Given the description of an element on the screen output the (x, y) to click on. 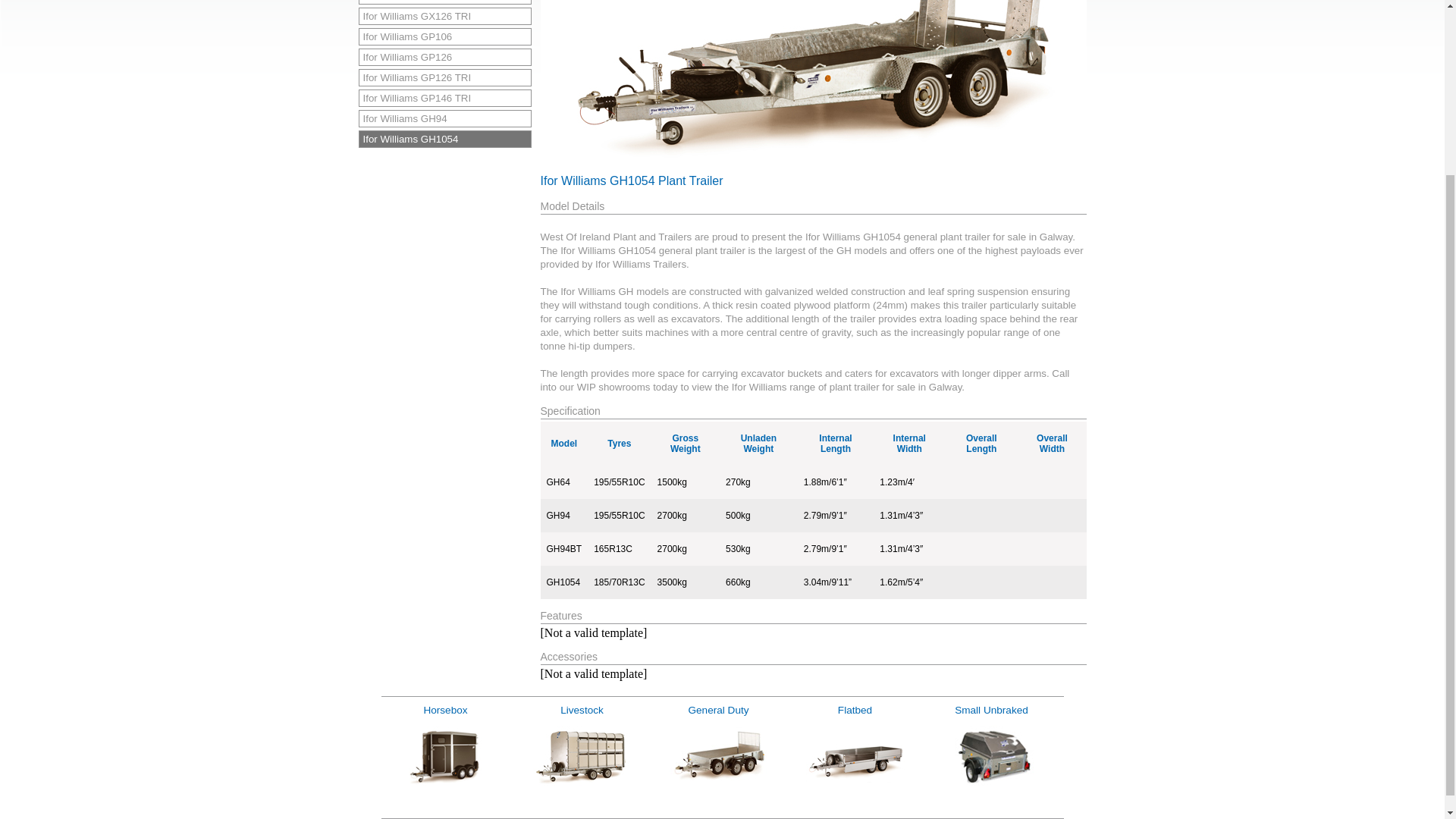
Ifor Williams GP146 TRI (444, 98)
General Duty (717, 755)
Ifor Williams GX126 TRI (444, 16)
Small Unbraked (991, 755)
Ifor Williams GX126 (444, 2)
Horsebox (445, 755)
Livestock (581, 755)
Ifor Williams GH1054 (444, 139)
Ifor Williams GP126 (444, 57)
Ifor Williams GP106 (444, 36)
